Given the description of an element on the screen output the (x, y) to click on. 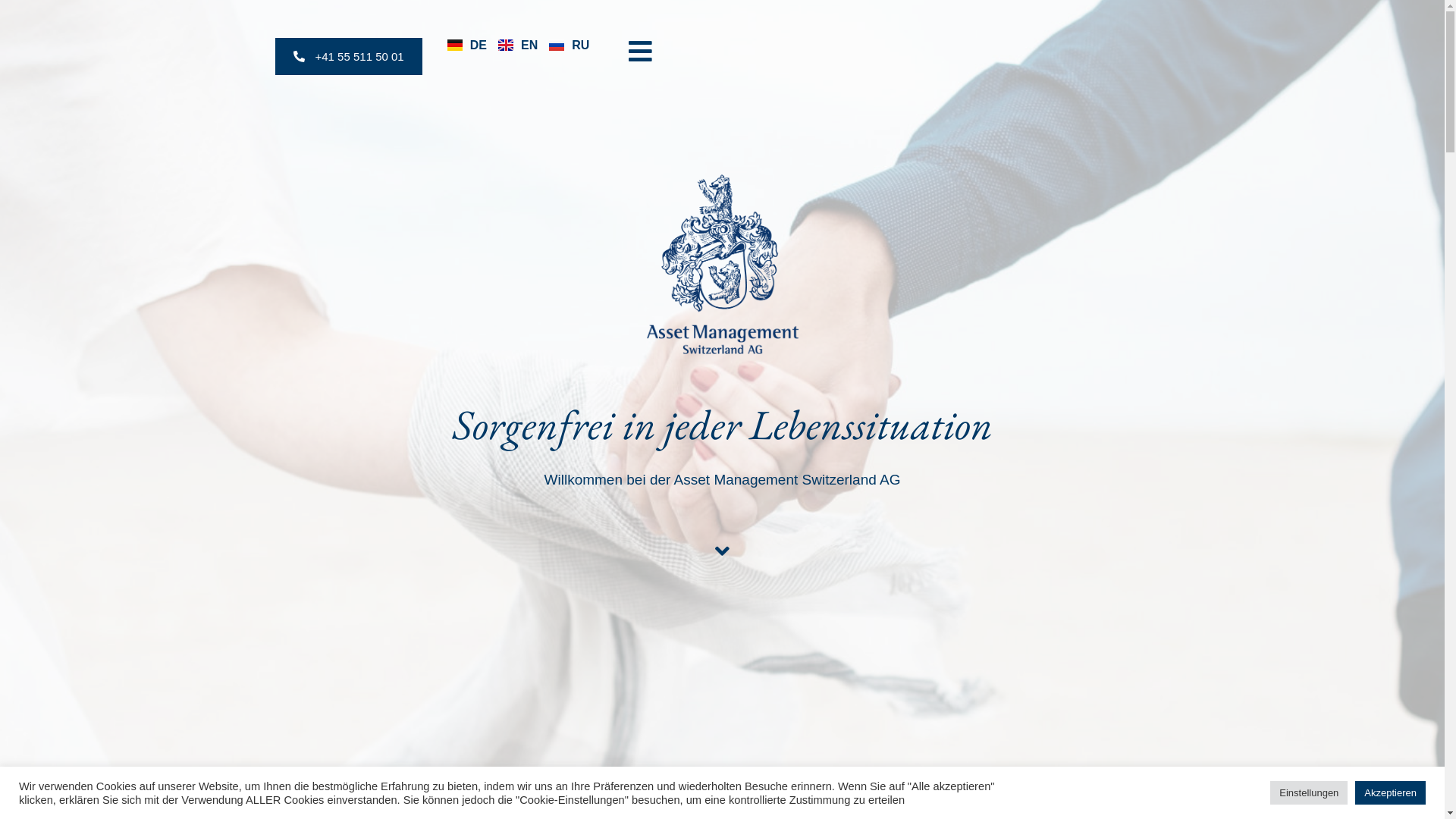
Akzeptieren Element type: text (1390, 792)
DE Element type: text (466, 44)
+41 55 511 50 01 Element type: text (347, 56)
EN Element type: text (517, 44)
Einstellungen Element type: text (1308, 792)
RU Element type: text (569, 44)
